Given the description of an element on the screen output the (x, y) to click on. 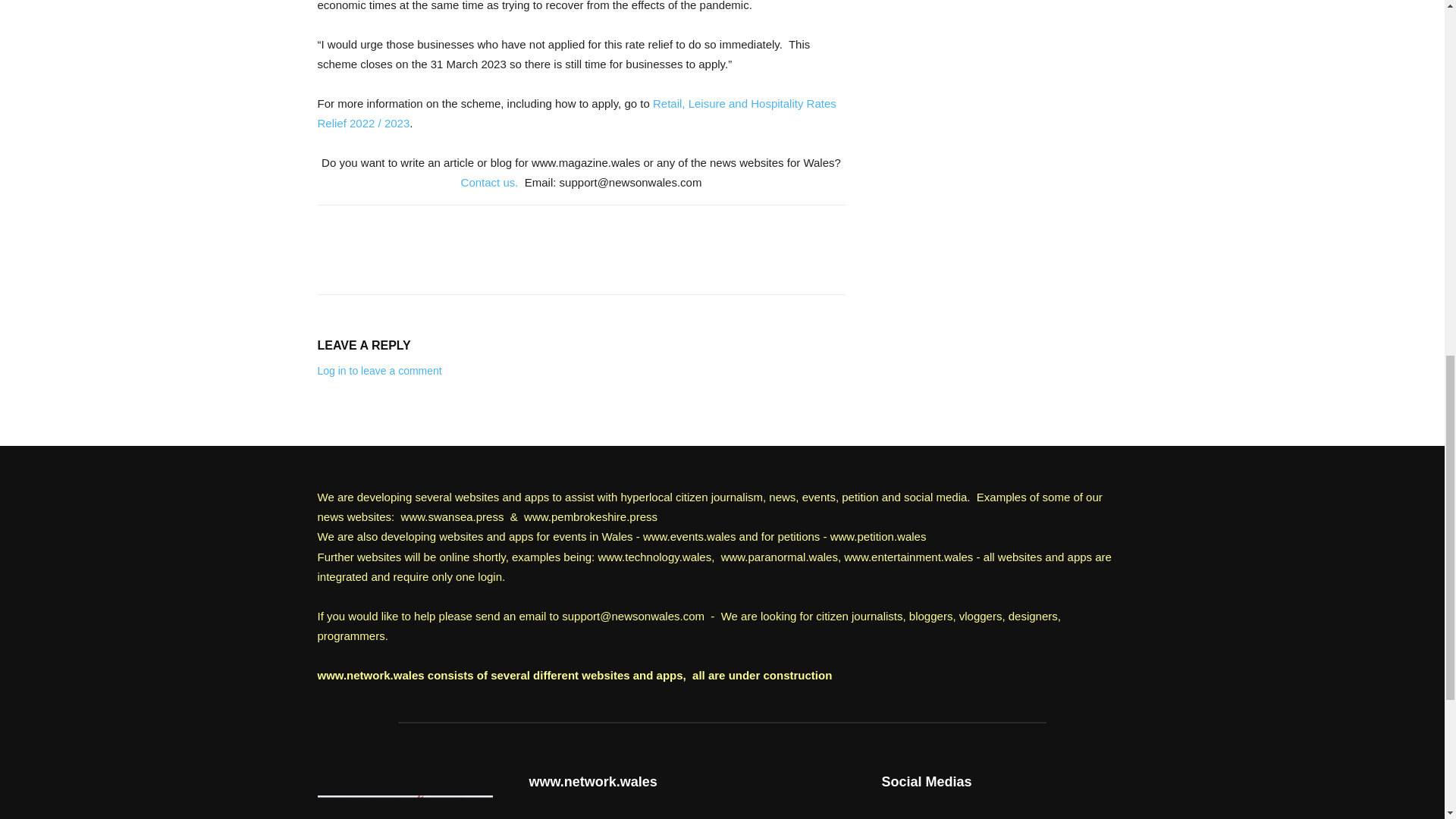
bottomFacebookLike (430, 229)
